Given the description of an element on the screen output the (x, y) to click on. 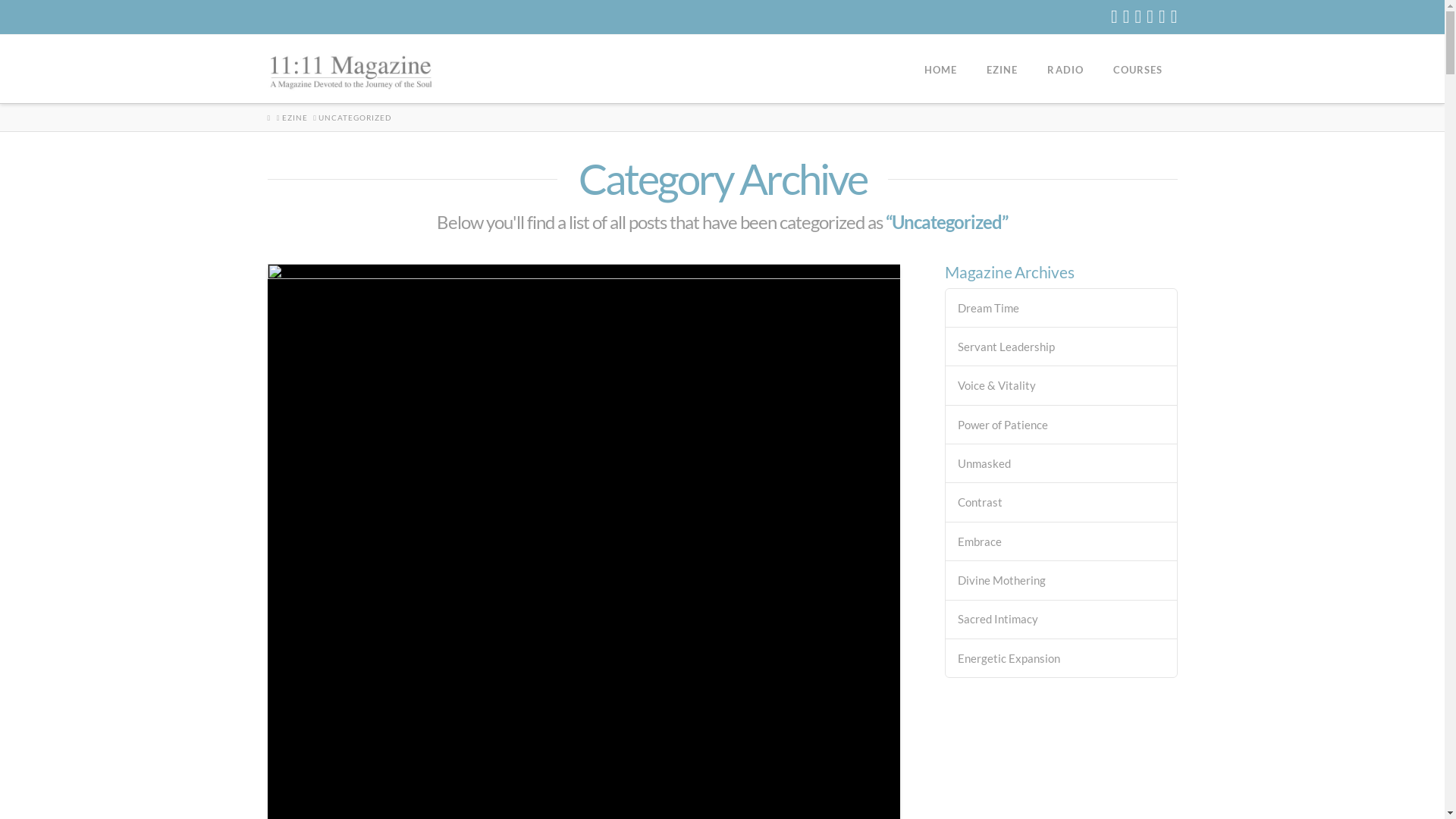
Pinterest Element type: hover (1173, 16)
LinkedIn Element type: hover (1137, 16)
Embrace Element type: text (1060, 541)
Voice & Vitality Element type: text (1060, 385)
Power of Patience Element type: text (1060, 424)
Unmasked Element type: text (1060, 463)
UNCATEGORIZED Element type: text (355, 117)
Twitter Element type: hover (1126, 16)
Sacred Intimacy Element type: text (1060, 618)
Facebook Element type: hover (1113, 16)
Energetic Expansion Element type: text (1060, 658)
COURSES Element type: text (1137, 68)
HOME Element type: text (940, 68)
Servant Leadership Element type: text (1060, 346)
Dream Time Element type: text (1060, 308)
Instagram Element type: hover (1161, 16)
YouTube Element type: hover (1149, 16)
Divine Mothering Element type: text (1060, 580)
Contrast Element type: text (1060, 502)
HOME Element type: text (268, 117)
RADIO Element type: text (1064, 68)
EZINE Element type: text (294, 117)
EZINE Element type: text (1001, 68)
